Given the description of an element on the screen output the (x, y) to click on. 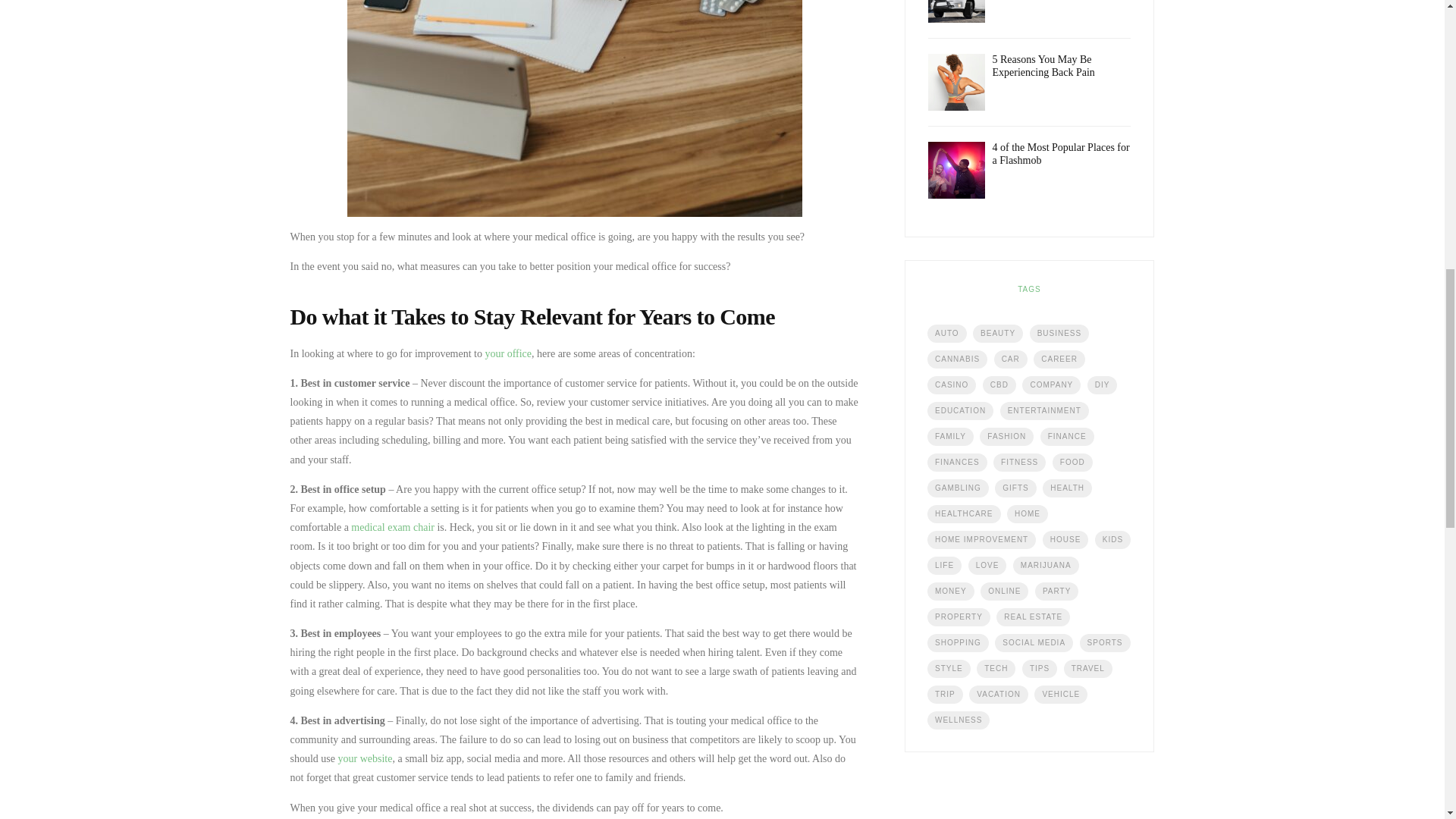
your website (362, 758)
your office (508, 353)
medical exam chair (391, 527)
